Given the description of an element on the screen output the (x, y) to click on. 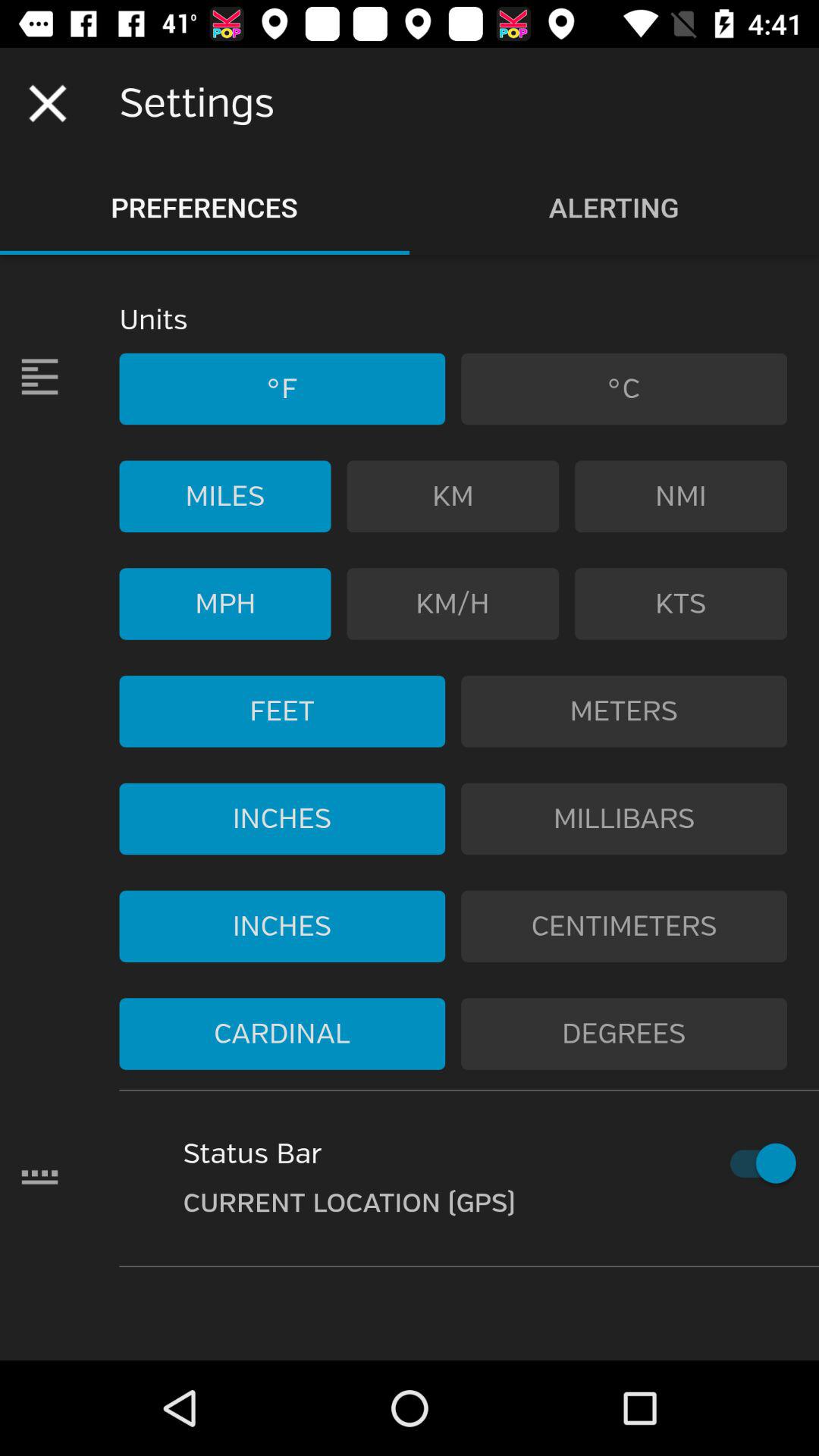
turn on the icon below the mph item (282, 711)
